Given the description of an element on the screen output the (x, y) to click on. 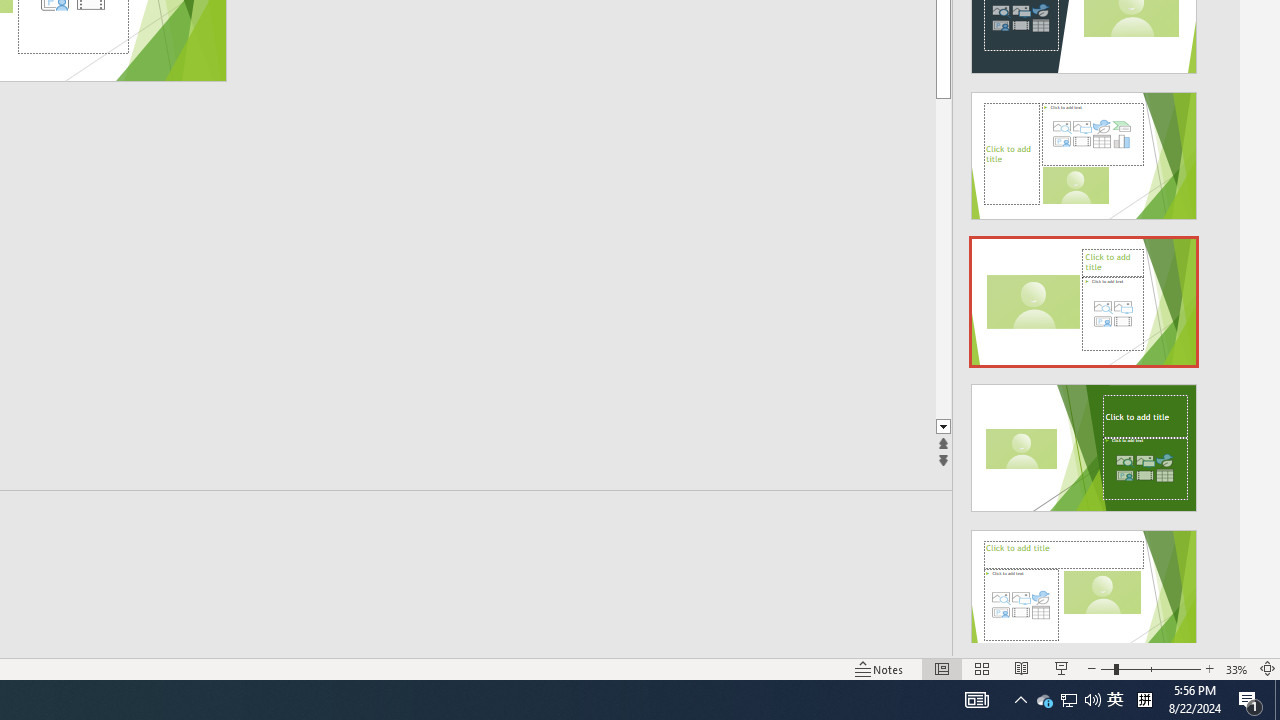
Zoom to Fit  (1267, 668)
Page down (1011, 258)
Zoom (1150, 668)
Slide Sorter (982, 668)
Slide Show (1061, 668)
Zoom In (1209, 668)
Notes  (879, 668)
Line down (1011, 427)
Reading View (1021, 668)
Design Idea (1083, 587)
Class: NetUIImage (1083, 593)
Zoom 33% (1236, 668)
Normal (941, 668)
Zoom Out (1106, 668)
